Given the description of an element on the screen output the (x, y) to click on. 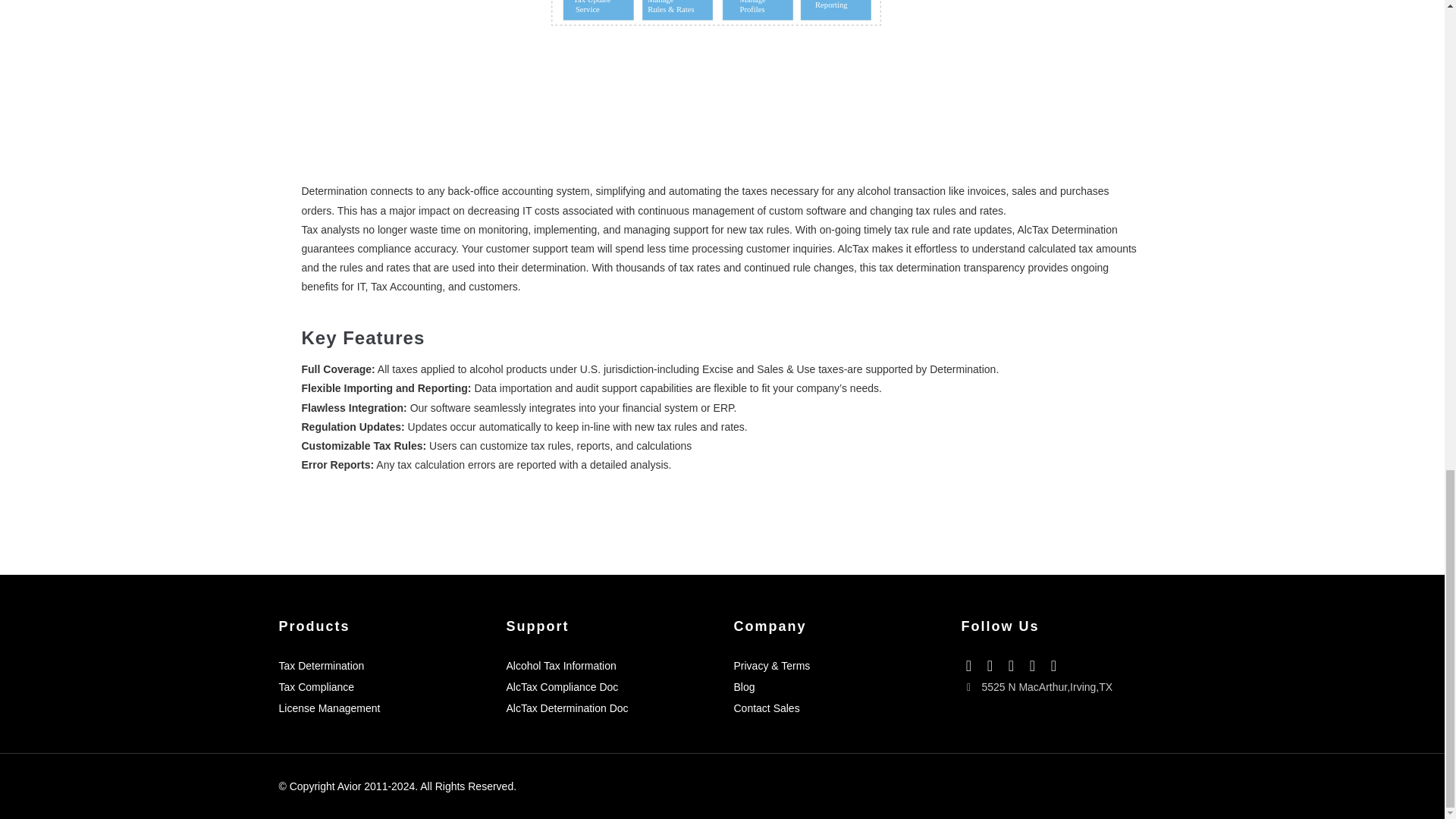
Tax Determination (322, 665)
AlcTax Determination Doc (567, 707)
License Management (329, 707)
AlcTax Compliance Doc (562, 686)
Alcohol Tax Information (560, 665)
Blog (744, 686)
Contact Sales (766, 707)
Tax Compliance (317, 686)
